Given the description of an element on the screen output the (x, y) to click on. 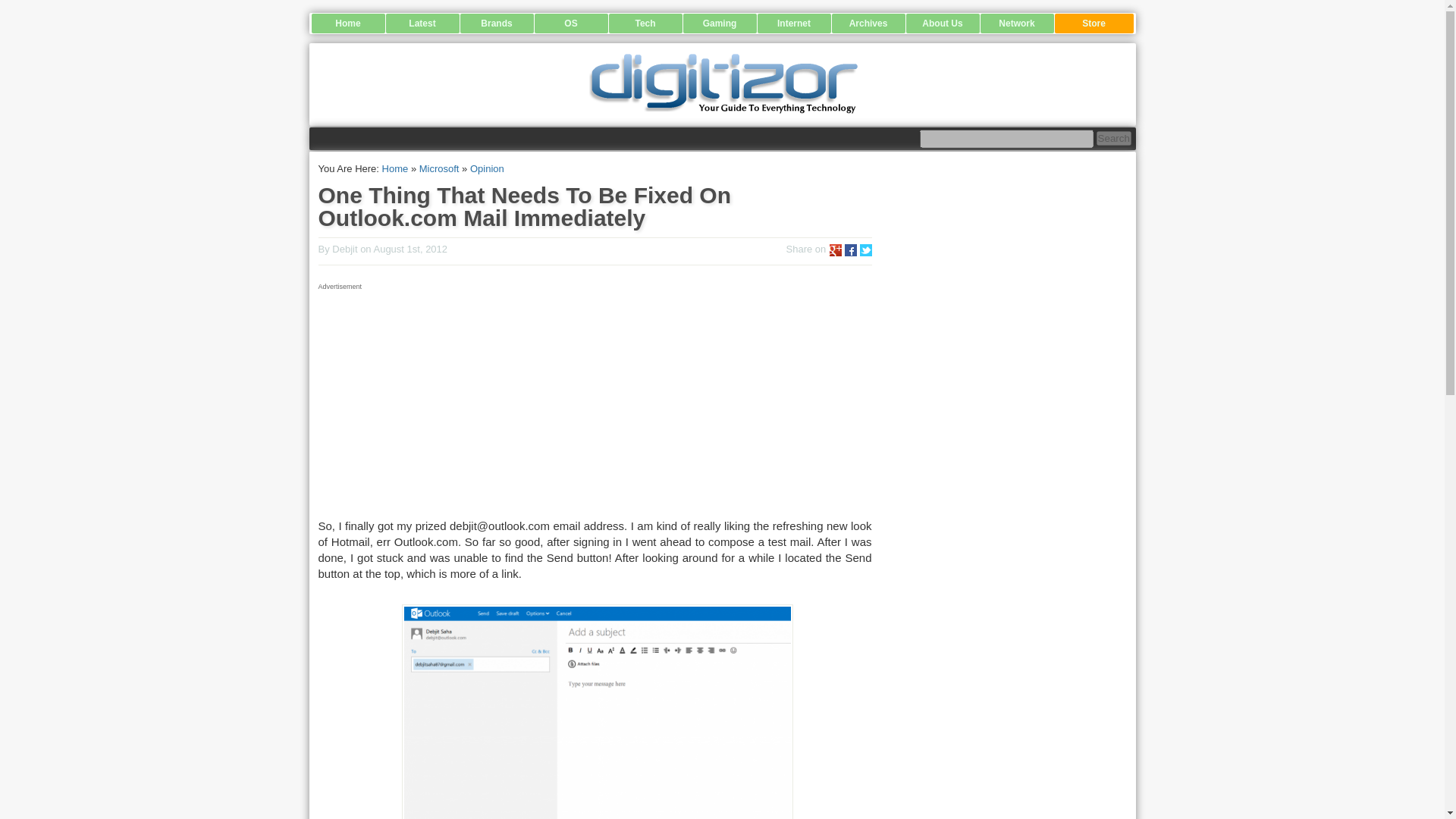
share this post on Facebook (850, 250)
Microsoft (439, 168)
Brands (496, 23)
share this post on Twitter (866, 250)
OS (570, 23)
Network (1015, 23)
share on tw (866, 250)
Send button in Outlook.com is NOT a button, but a Link (597, 711)
Archives (867, 23)
